Given the description of an element on the screen output the (x, y) to click on. 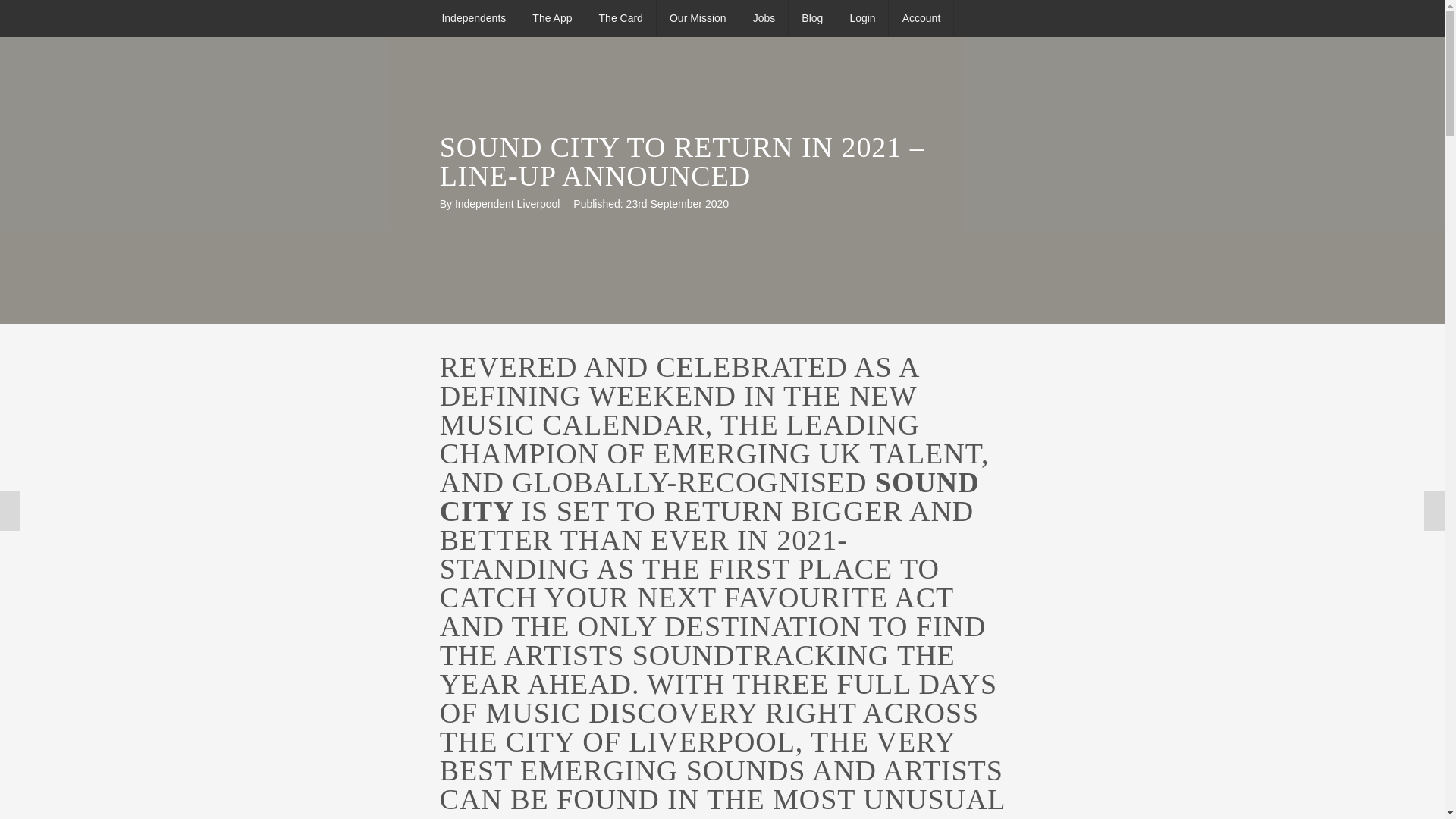
The App (552, 18)
Our Mission (697, 18)
Independents (474, 18)
Jobs (764, 18)
Account (921, 18)
Login (863, 18)
Blog (813, 18)
The Card (621, 18)
